Given the description of an element on the screen output the (x, y) to click on. 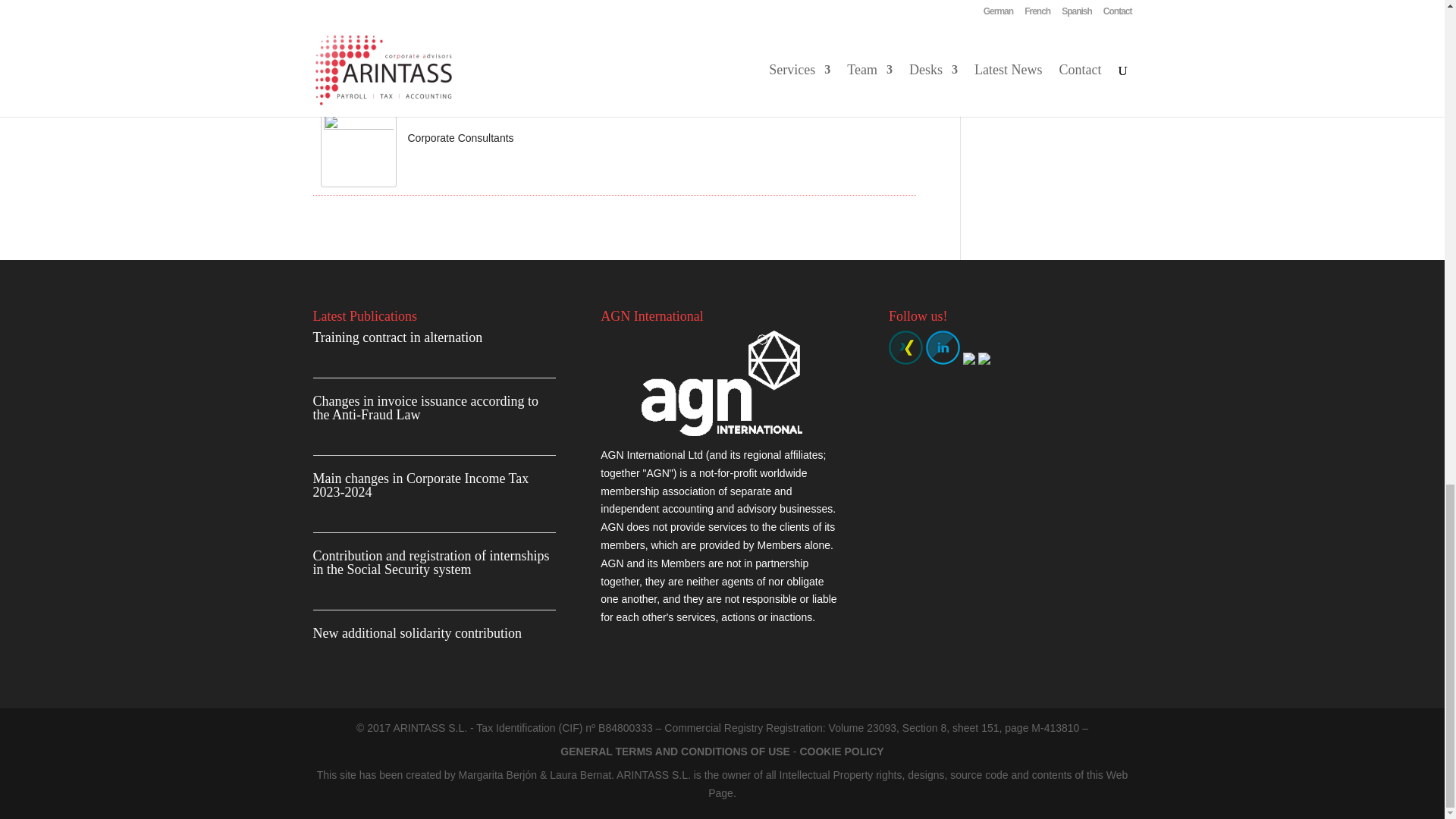
Arintass (342, 92)
All posts by Arintass (342, 92)
